Given the description of an element on the screen output the (x, y) to click on. 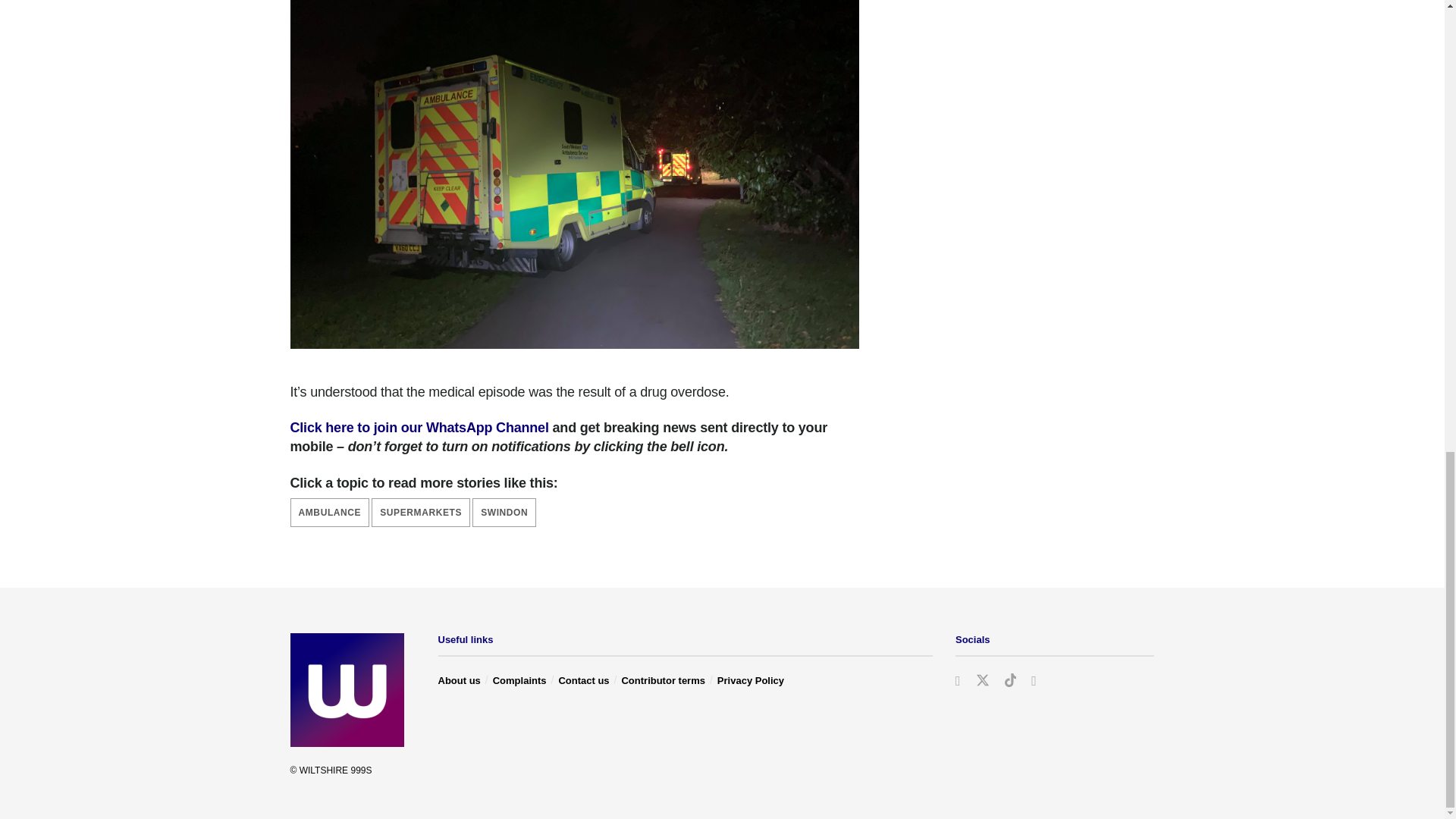
SUPERMARKETS (420, 512)
AMBULANCE (329, 512)
SWINDON (503, 512)
Click here to join our WhatsApp Channel (418, 427)
